Given the description of an element on the screen output the (x, y) to click on. 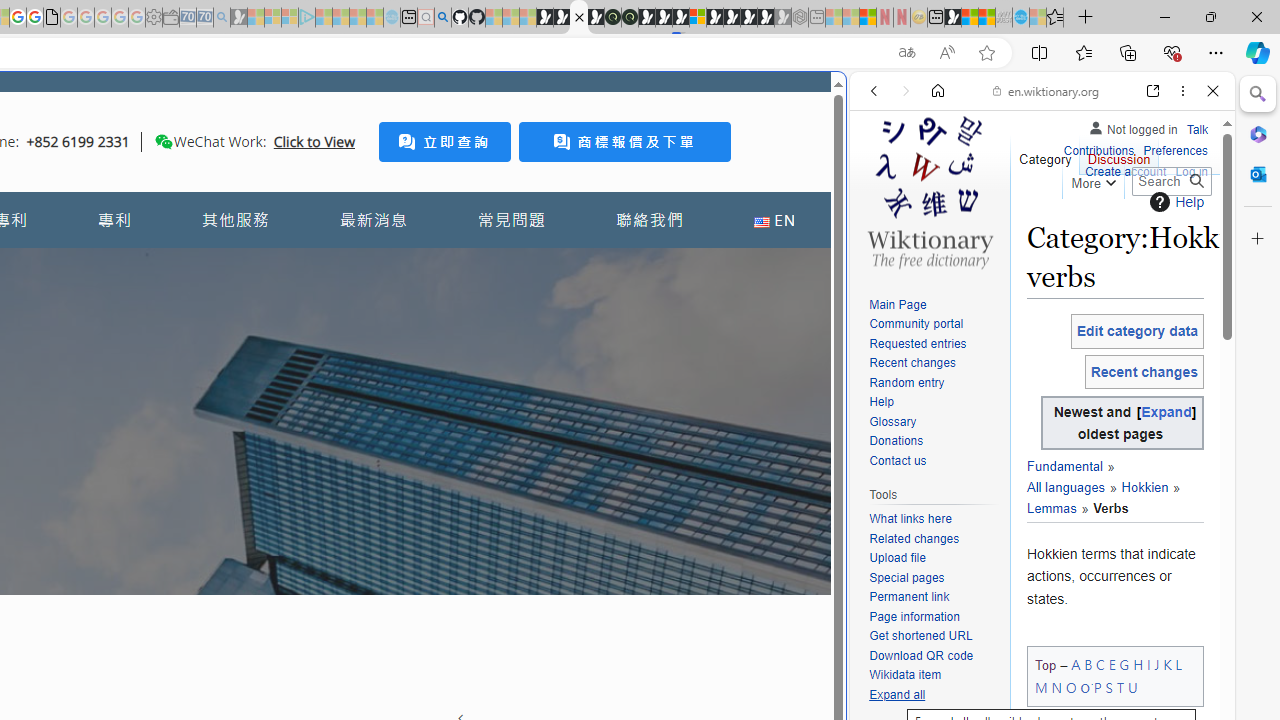
Requested entries (934, 344)
Edit category data (1137, 331)
Frequently visited (418, 265)
C (1099, 664)
EN (774, 220)
Upload file (934, 558)
Get shortened URL (920, 636)
S (1108, 687)
Tabs you've opened (276, 265)
Sign in to your account (697, 17)
Log in (1191, 172)
